Given the description of an element on the screen output the (x, y) to click on. 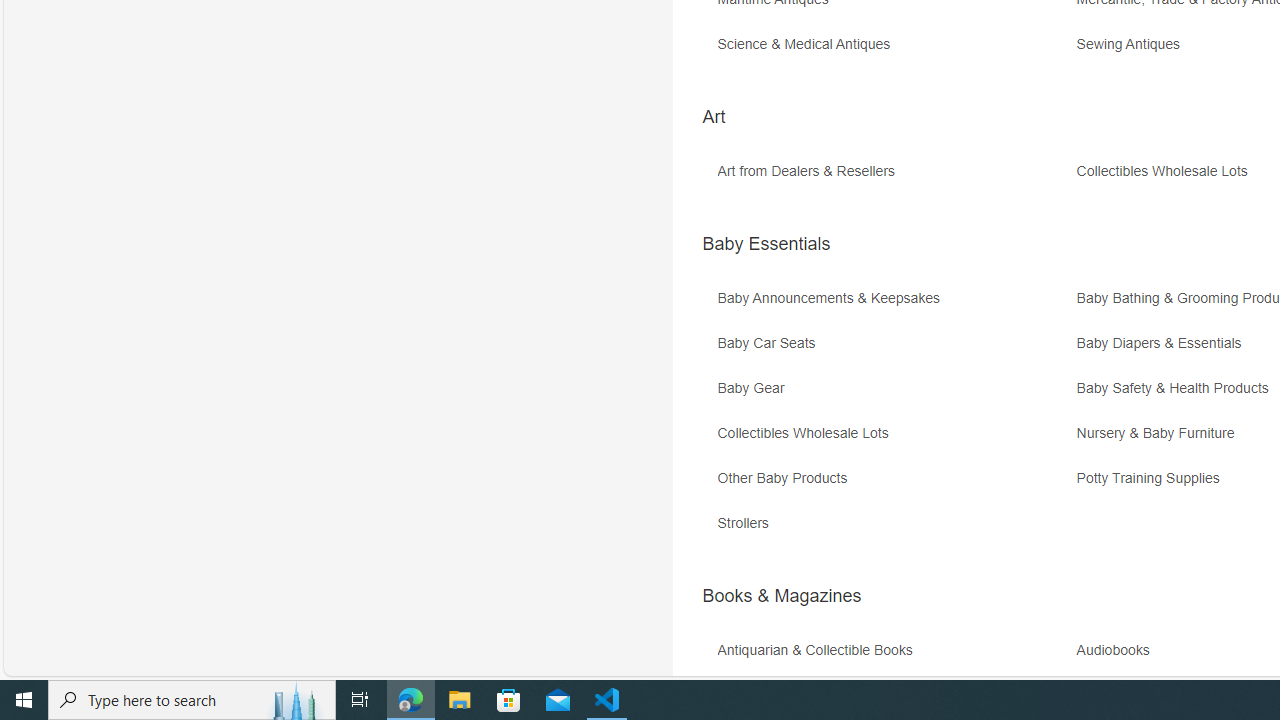
Art from Dealers & Resellers (894, 178)
Baby Safety & Health Products (1177, 388)
Other Baby Products (786, 478)
Baby Diapers & Essentials (1163, 343)
Art (713, 116)
Antiquarian & Collectible Books (894, 657)
Other Baby Products (894, 485)
Strollers (747, 523)
Science & Medical Antiques (894, 51)
Baby Gear (894, 395)
Baby Essentials (765, 244)
Collectibles Wholesale Lots (807, 433)
